Given the description of an element on the screen output the (x, y) to click on. 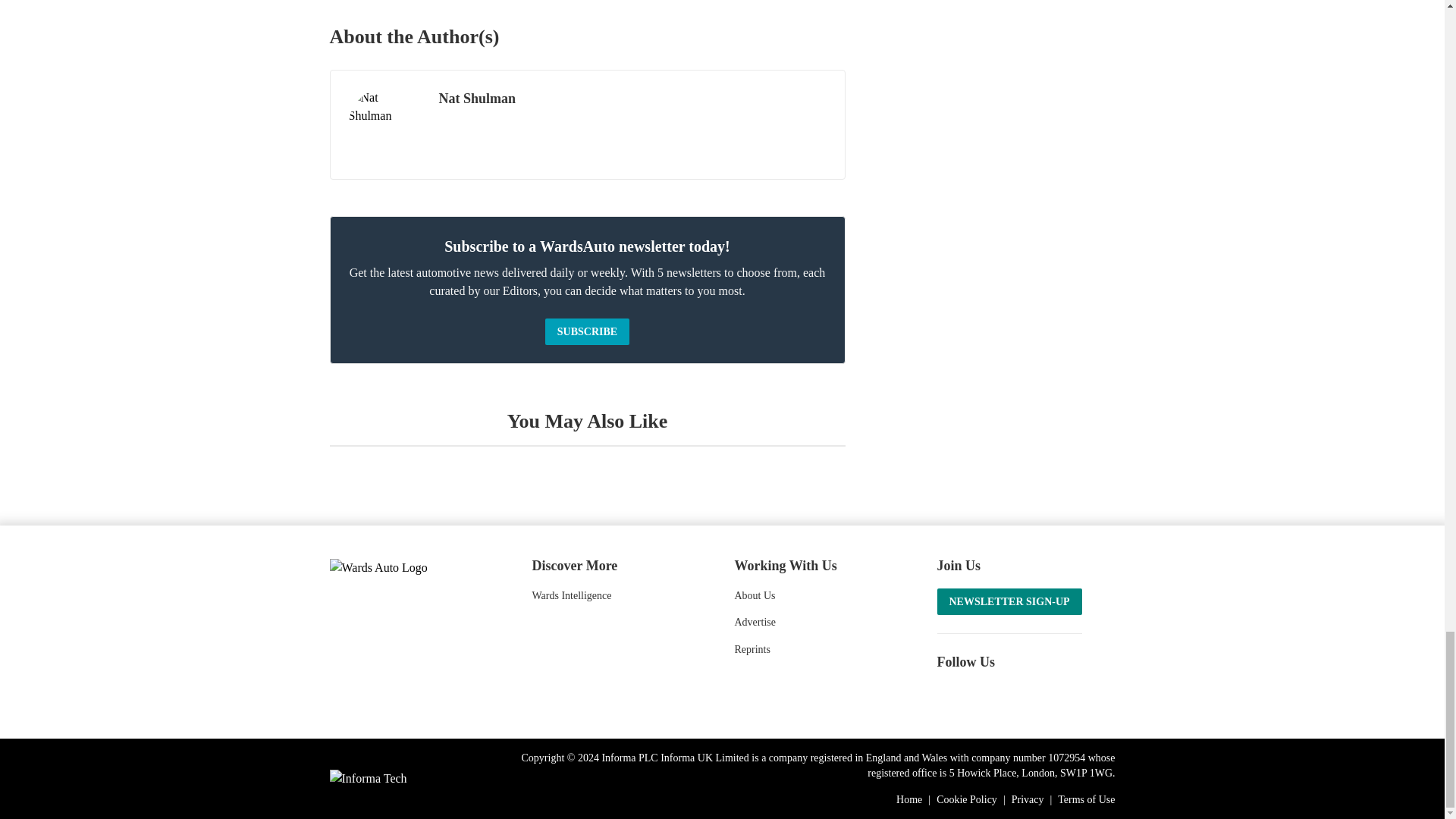
Nat Shulman (384, 124)
